Given the description of an element on the screen output the (x, y) to click on. 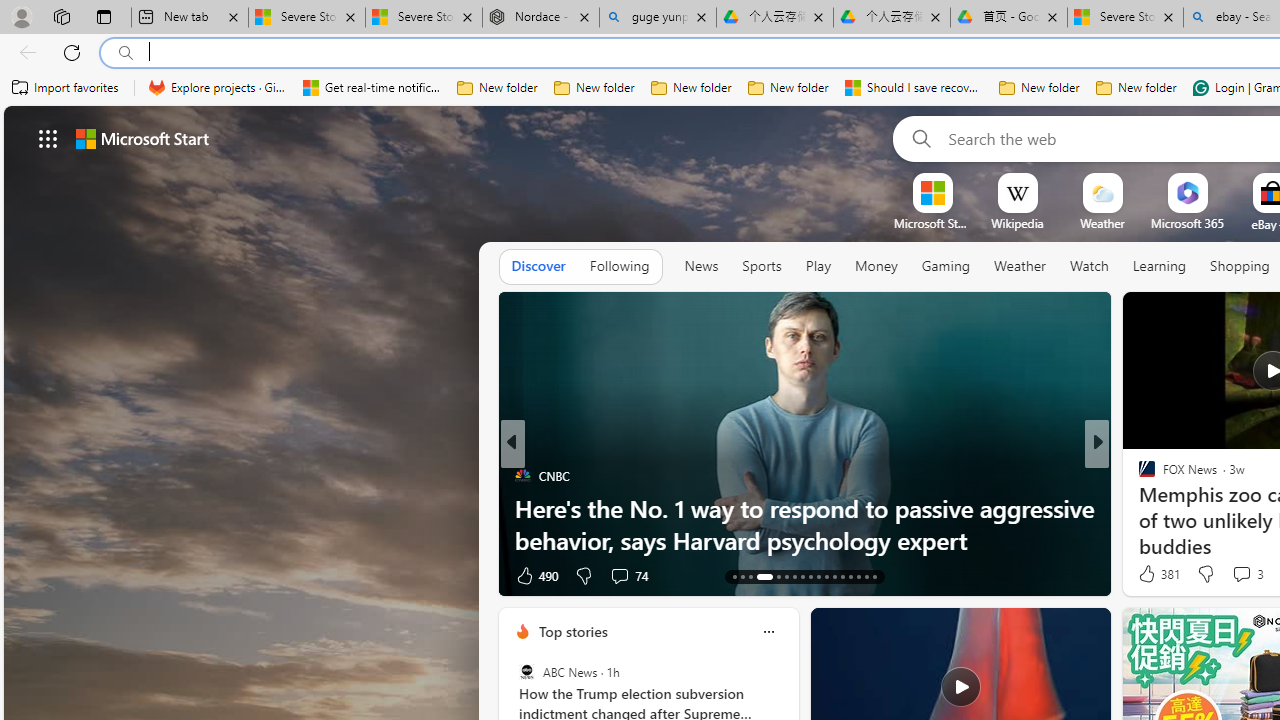
CNET (1138, 507)
3 Like (1145, 574)
AutomationID: tab-22 (818, 576)
AutomationID: waffle (47, 138)
View comments 3 Comment (1247, 574)
View comments 2 Comment (1234, 574)
Import favorites (65, 88)
Weather (1020, 265)
490 Like (535, 574)
AutomationID: tab-28 (865, 576)
